Given the description of an element on the screen output the (x, y) to click on. 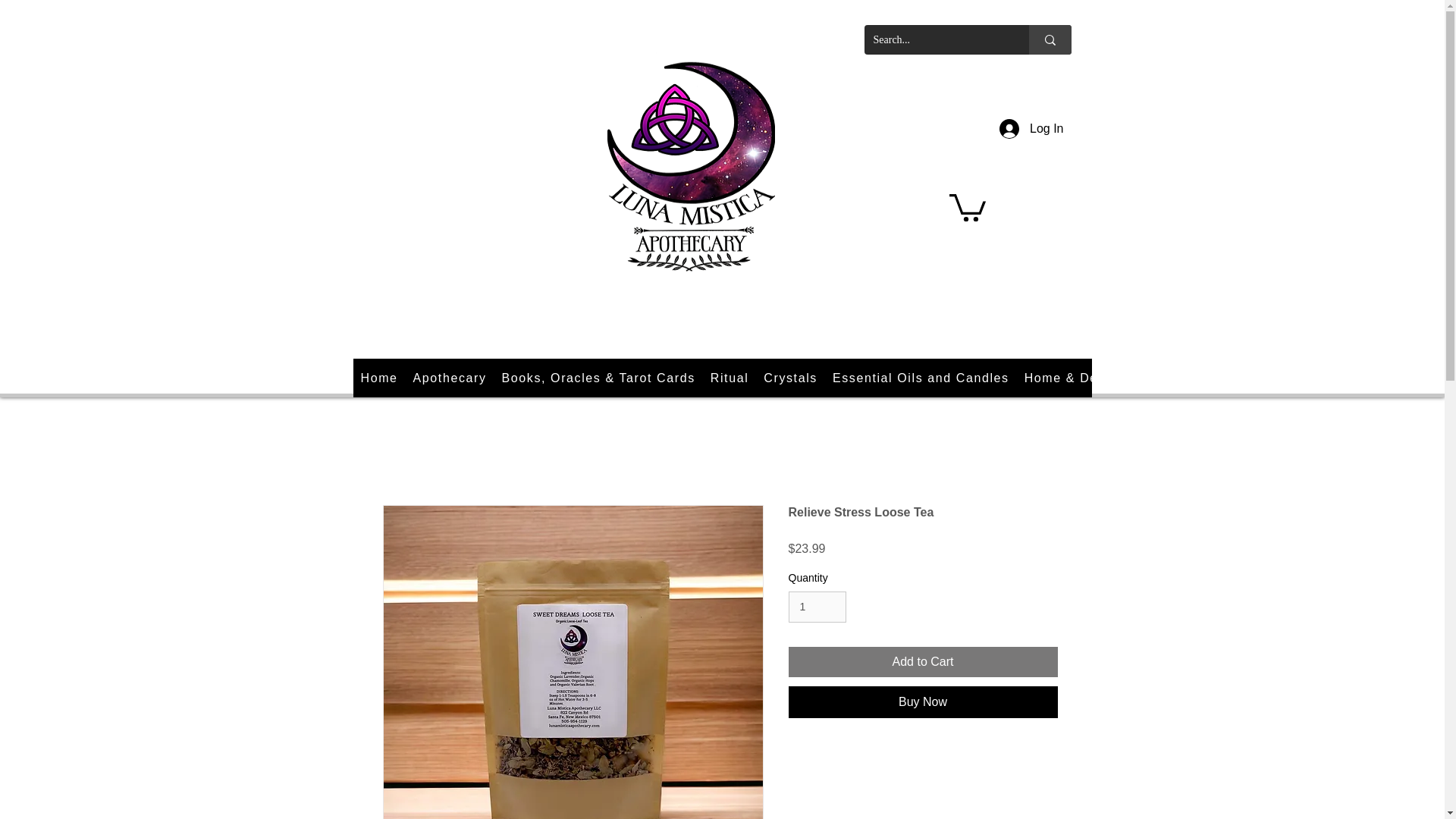
Home (379, 377)
1 (817, 606)
Add to Cart (923, 662)
Crystals (790, 377)
Log In (1031, 128)
Ritual (730, 377)
Apothecary (450, 377)
Essential Oils and Candles (920, 377)
Buy Now (923, 702)
Smudges and Incense (1205, 377)
